Given the description of an element on the screen output the (x, y) to click on. 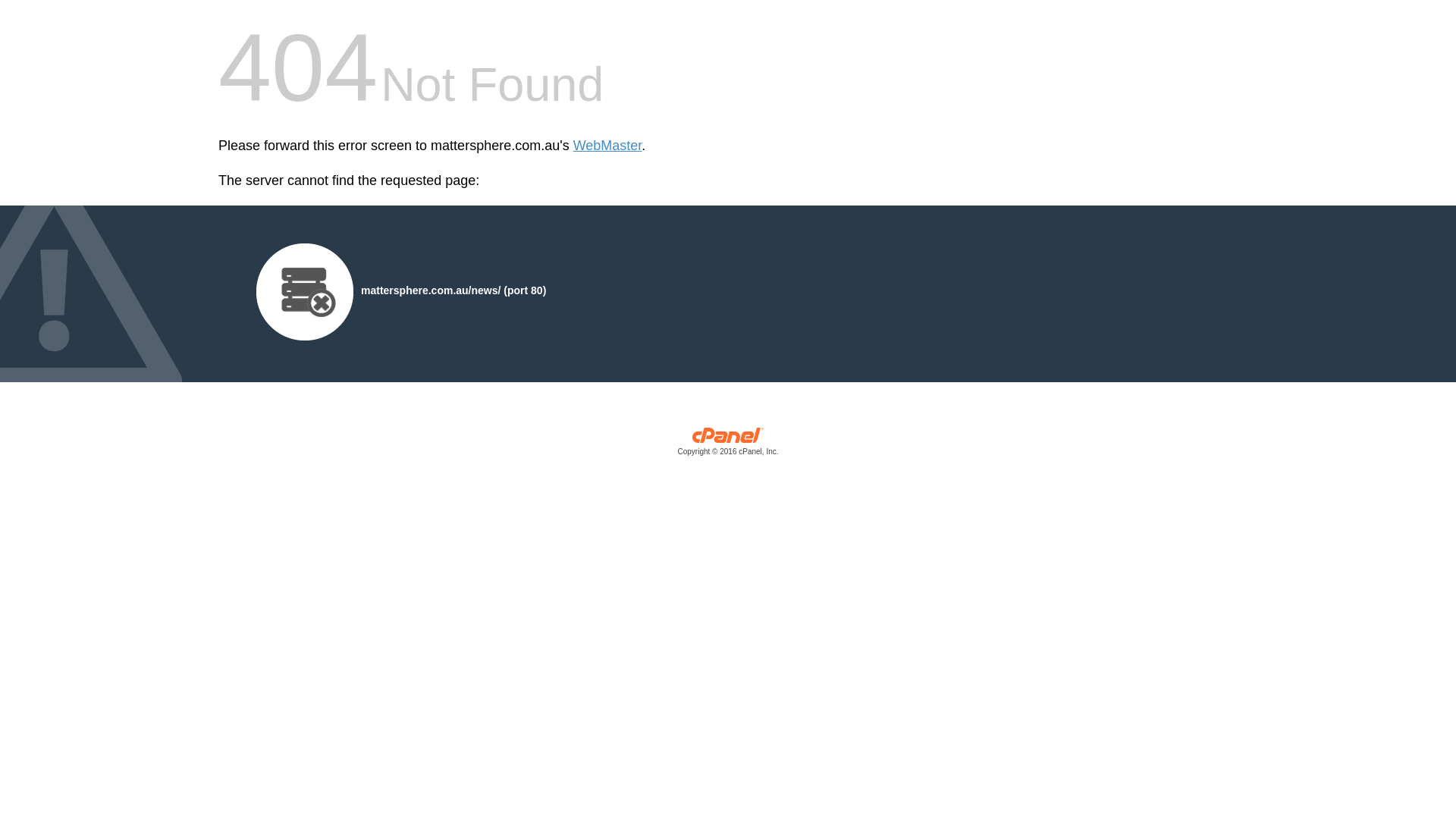
WebMaster Element type: text (607, 145)
